Given the description of an element on the screen output the (x, y) to click on. 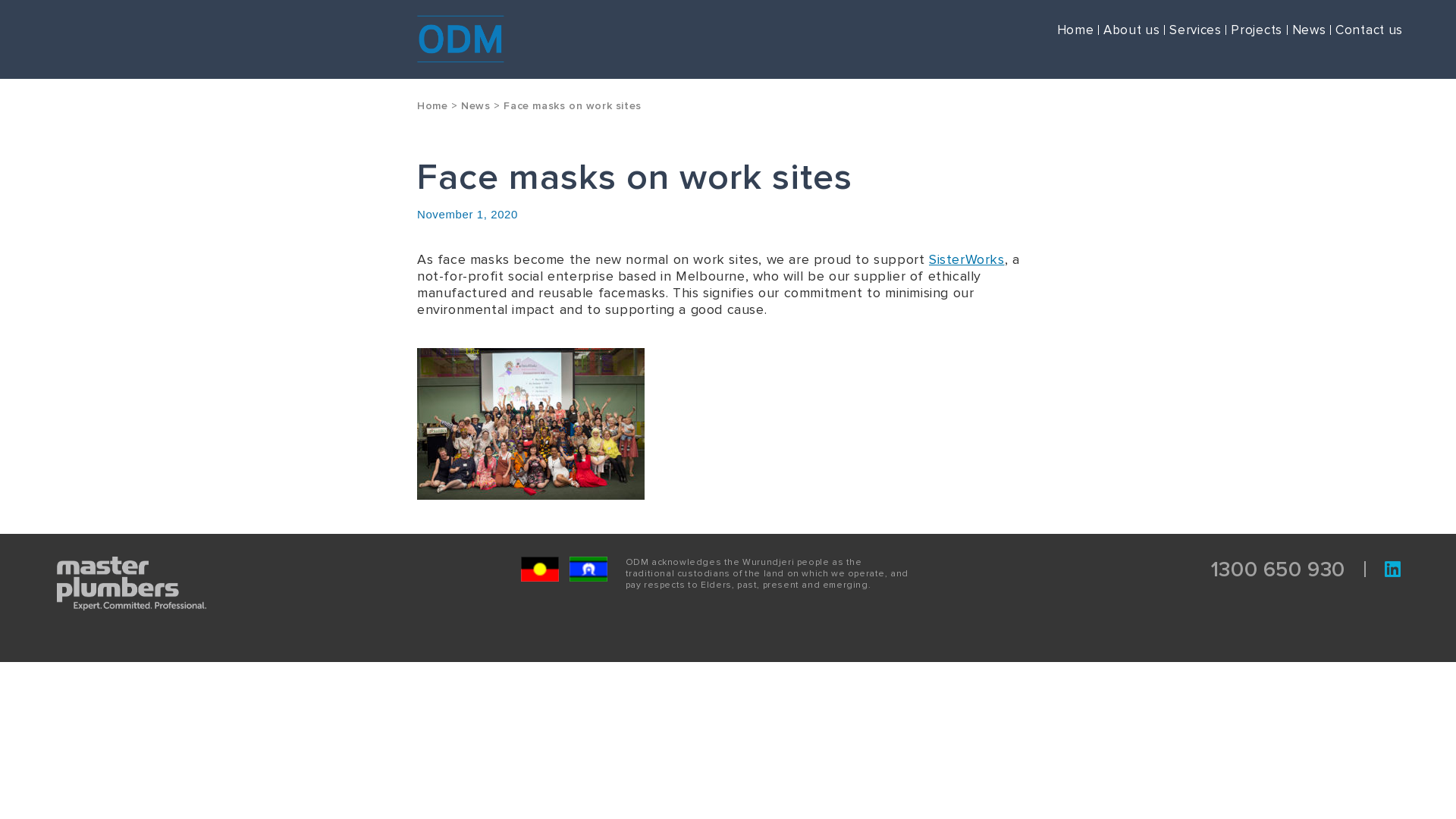
News Element type: text (475, 105)
SisterWorks Element type: text (966, 259)
1300 650 930 Element type: text (1278, 569)
Home Element type: text (432, 105)
Services Element type: text (1192, 29)
Contact us Element type: text (1366, 29)
News Element type: text (1306, 29)
Home Element type: text (1073, 29)
Projects Element type: text (1254, 29)
About us Element type: text (1129, 29)
